Given the description of an element on the screen output the (x, y) to click on. 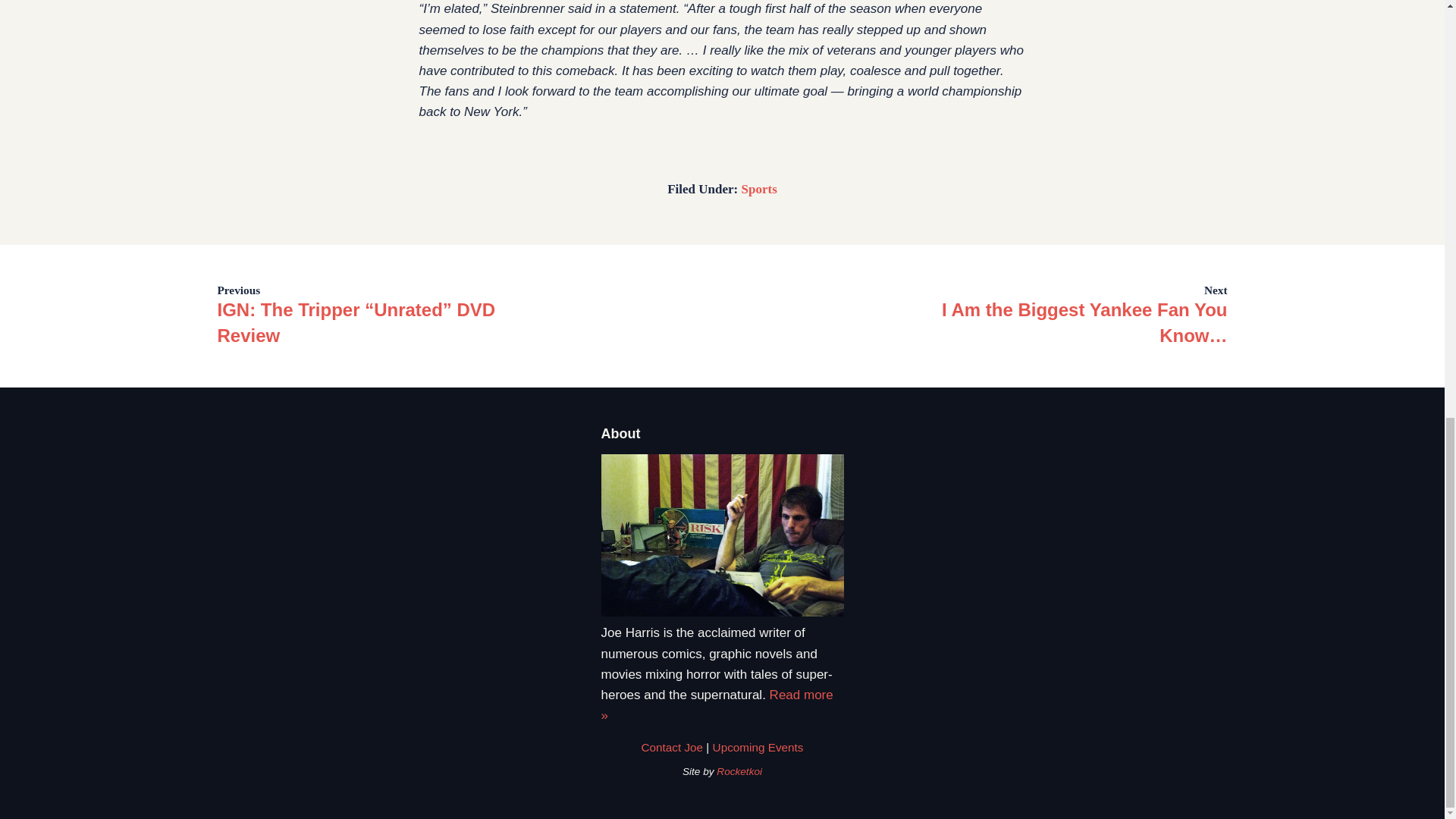
Sports (759, 188)
Upcoming Events (758, 747)
Contact Joe (671, 747)
Rocketkoi (738, 771)
